Given the description of an element on the screen output the (x, y) to click on. 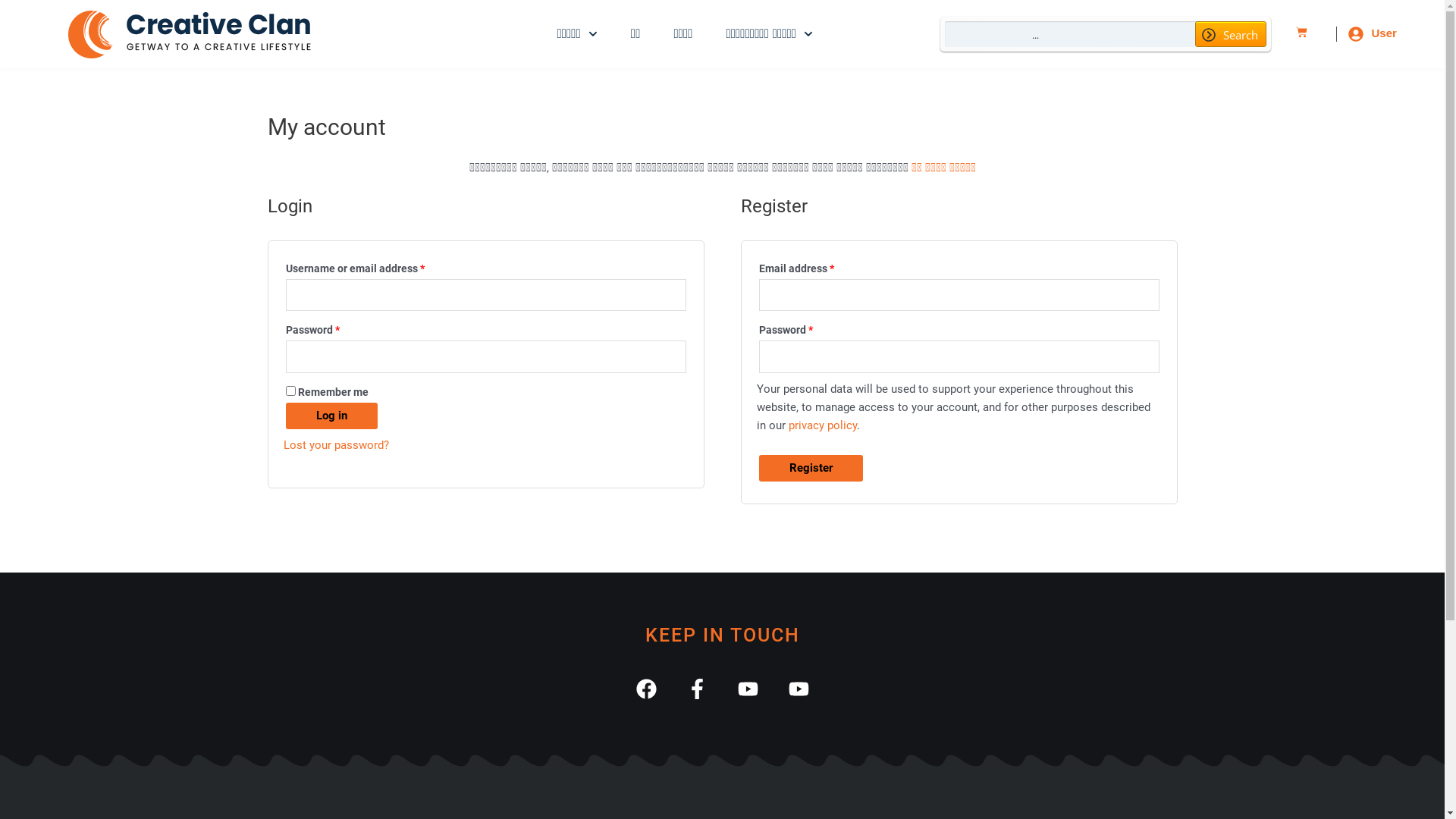
privacy policy Element type: text (822, 425)
Search Element type: text (1230, 34)
Log in Element type: text (330, 415)
Register Element type: text (810, 468)
User Element type: text (1383, 32)
Lost your password? Element type: text (336, 444)
